Given the description of an element on the screen output the (x, y) to click on. 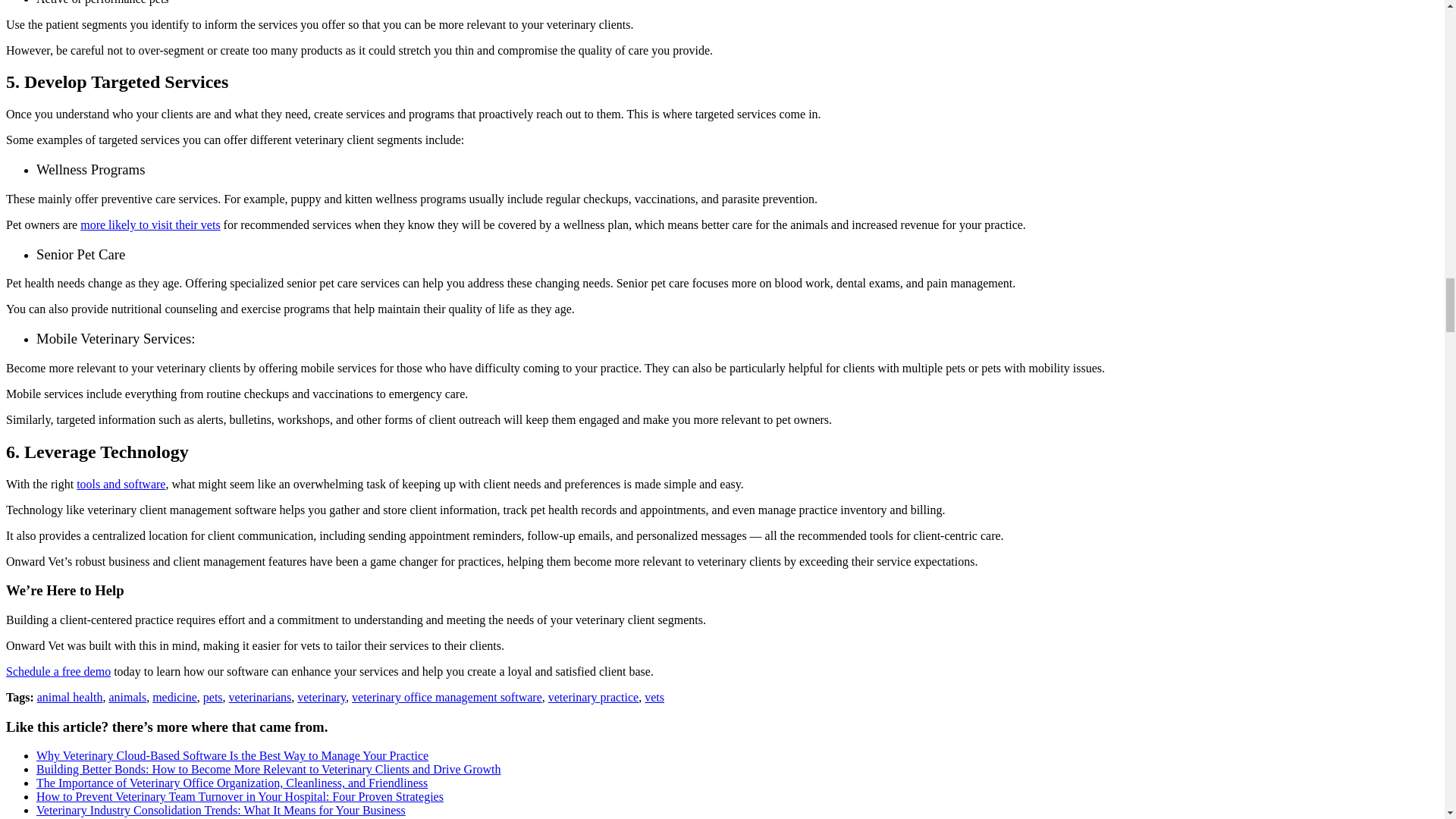
veterinarians (260, 697)
more likely to visit their vets (149, 224)
vets (654, 697)
veterinary practice (593, 697)
animals (127, 697)
pets (212, 697)
animal health (70, 697)
